Given the description of an element on the screen output the (x, y) to click on. 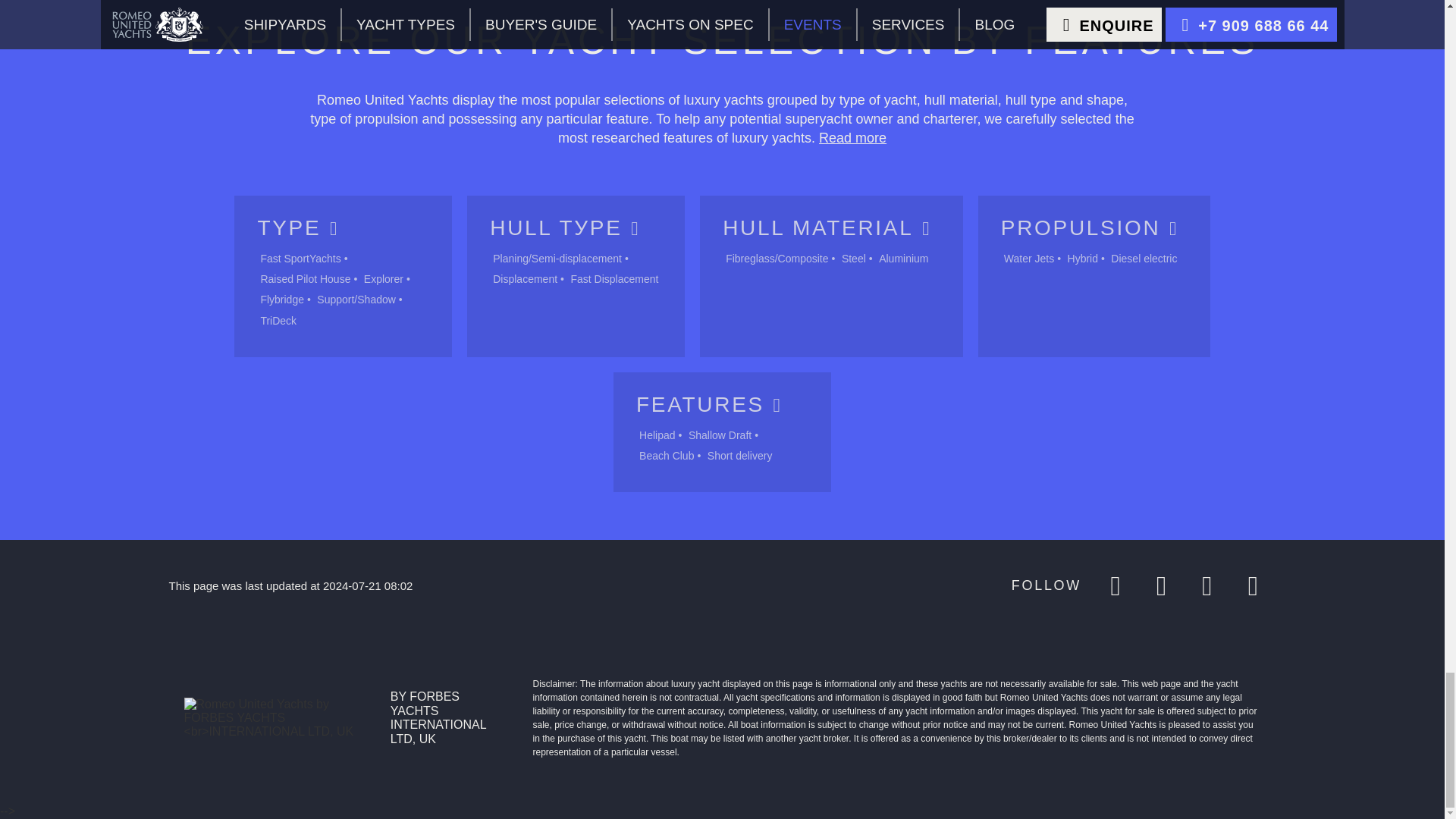
Twitter (1206, 585)
Facebook (1115, 585)
Pinterest (1252, 585)
Instagram (1160, 585)
